Given the description of an element on the screen output the (x, y) to click on. 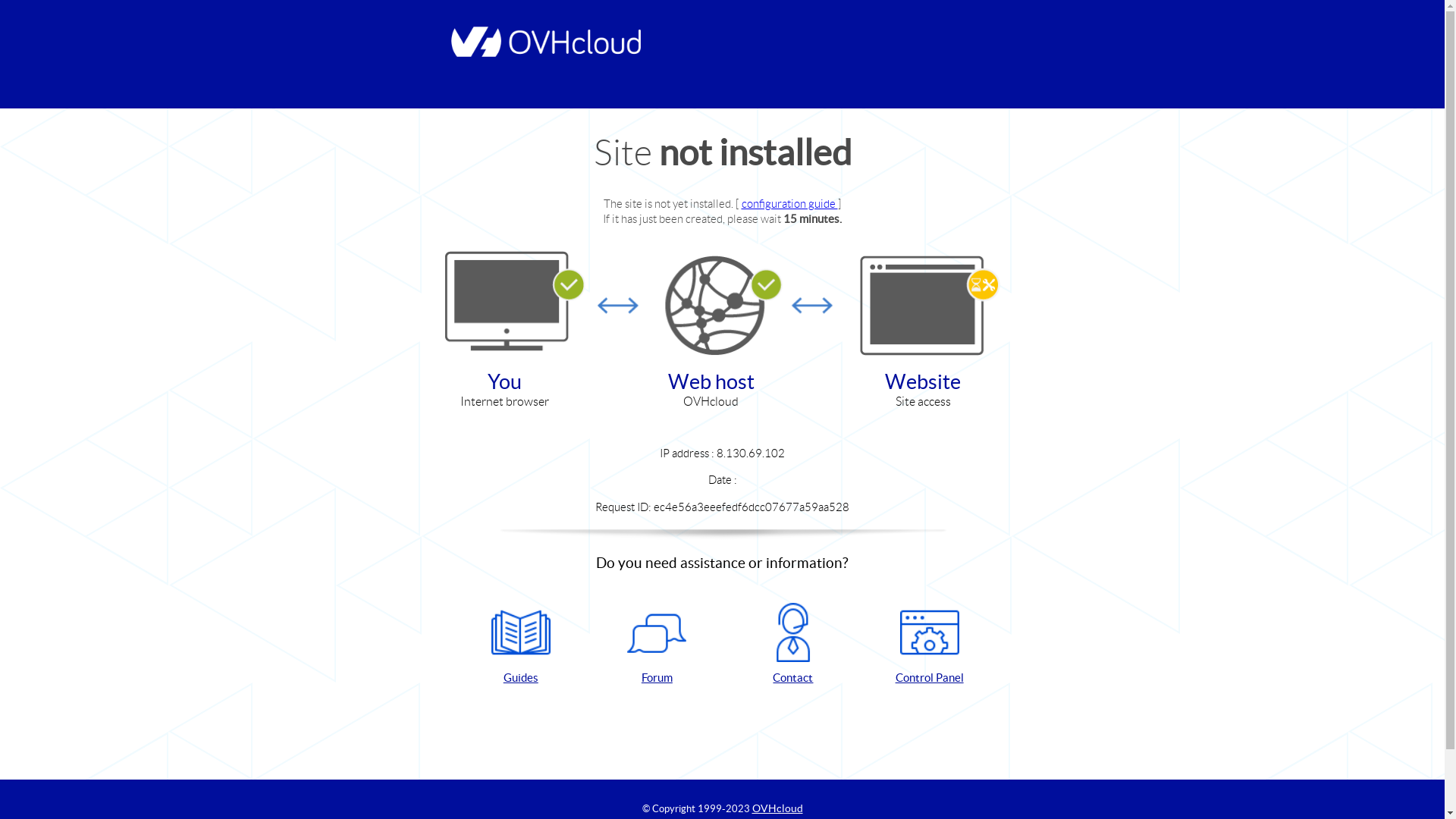
OVHcloud Element type: text (777, 808)
configuration guide Element type: text (789, 203)
Control Panel Element type: text (929, 644)
Forum Element type: text (656, 644)
Guides Element type: text (520, 644)
Contact Element type: text (792, 644)
